Given the description of an element on the screen output the (x, y) to click on. 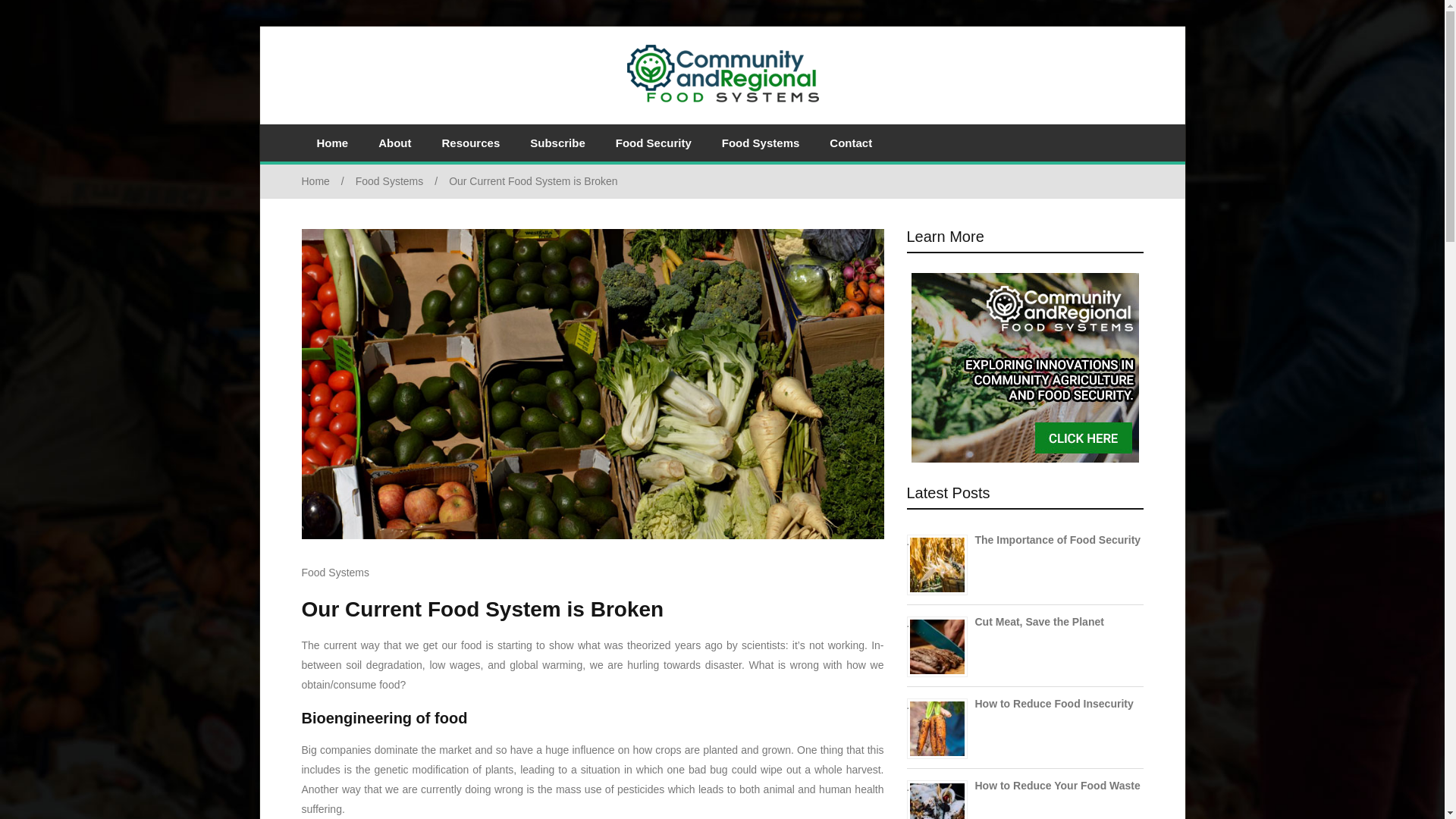
How to Reduce Your Food Waste (1057, 785)
Food Systems (760, 142)
Cut Meat, Save the Planet (1039, 621)
Home (328, 181)
Resources (470, 142)
Food Security (652, 142)
Subscribe (557, 142)
The Importance of Food Security (1058, 539)
Home (332, 142)
Food Systems (335, 572)
About (394, 142)
Food Systems (401, 181)
Contact (849, 142)
How to Reduce Food Insecurity (1054, 703)
